Given the description of an element on the screen output the (x, y) to click on. 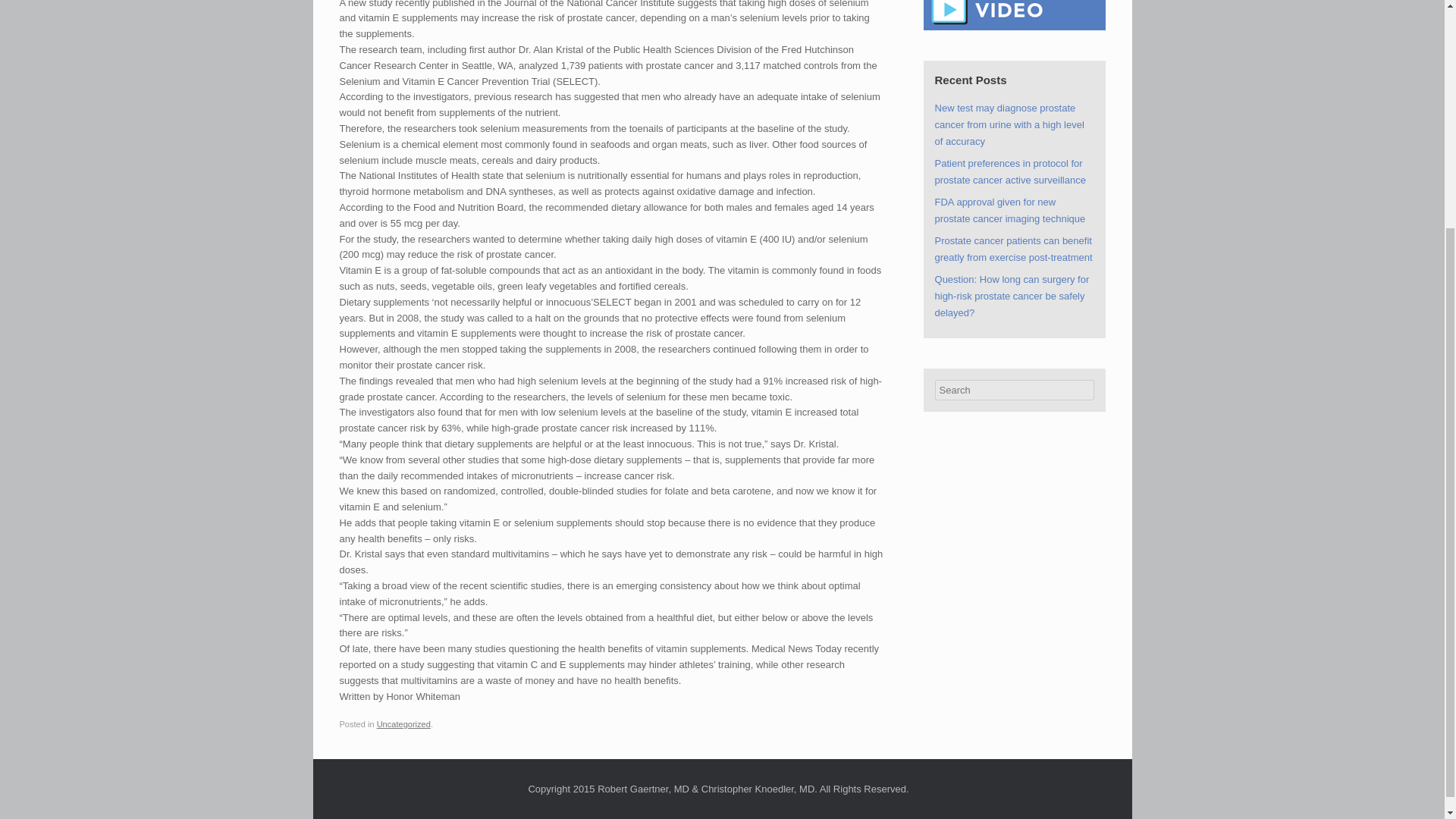
Uncategorized (403, 723)
FDA approval given for new prostate cancer imaging technique (1010, 210)
